Given the description of an element on the screen output the (x, y) to click on. 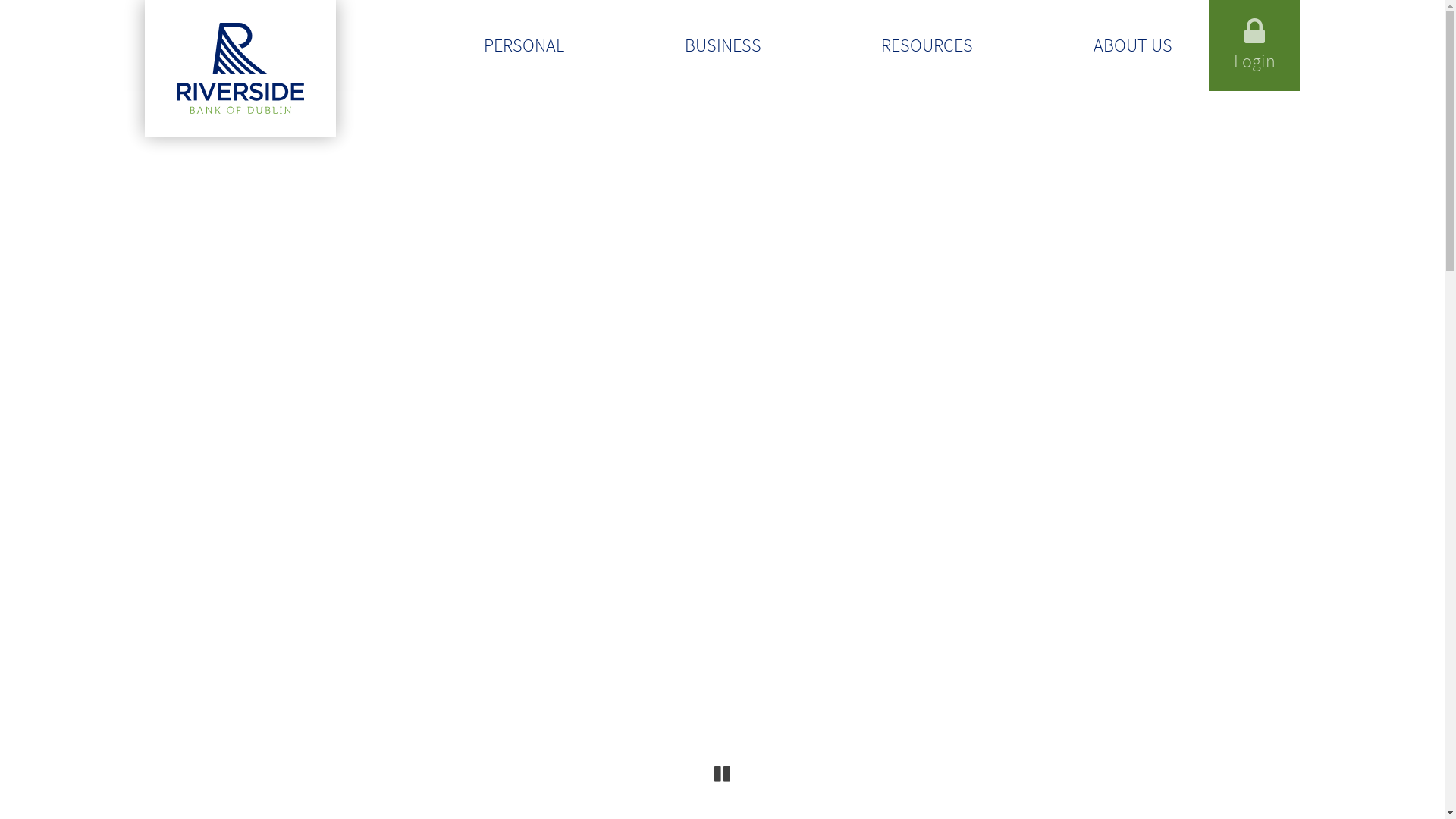
Pause Slideshow Element type: text (721, 773)
Login Element type: text (1253, 45)
